Given the description of an element on the screen output the (x, y) to click on. 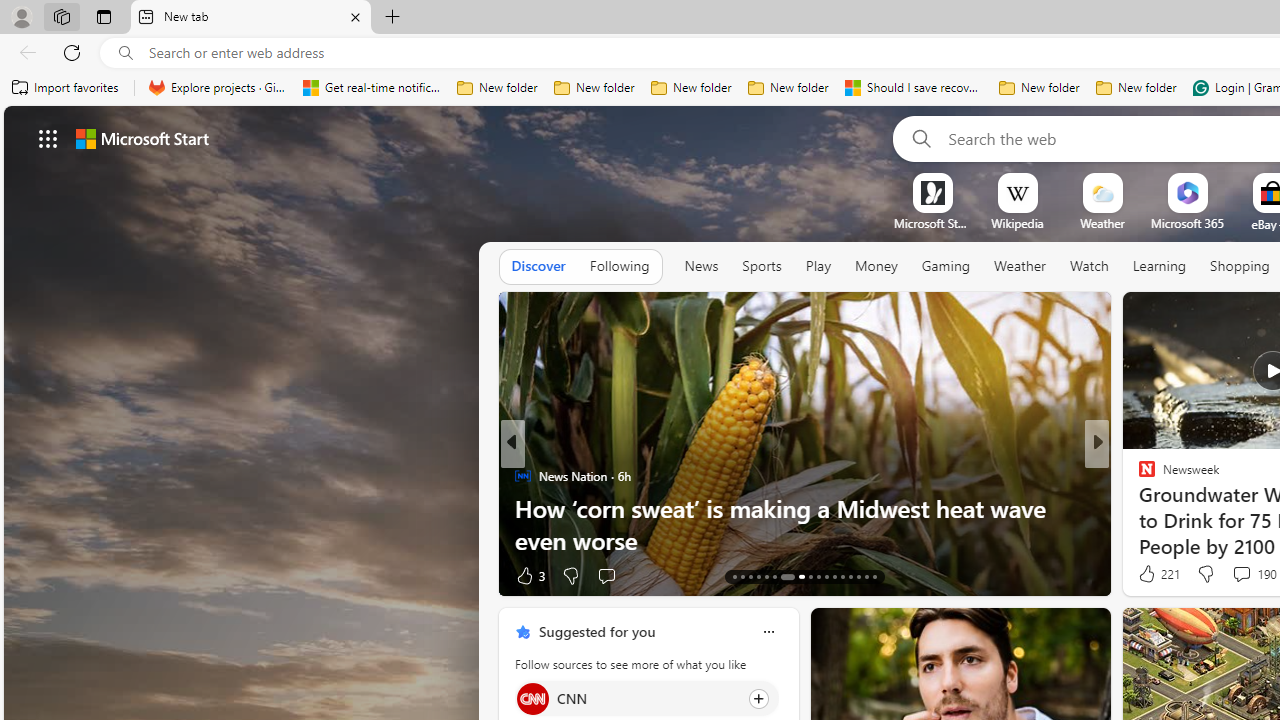
AutomationID: tab-19 (782, 576)
AutomationID: tab-18 (774, 576)
AutomationID: tab-13 (733, 576)
Forbes (1138, 475)
